Given the description of an element on the screen output the (x, y) to click on. 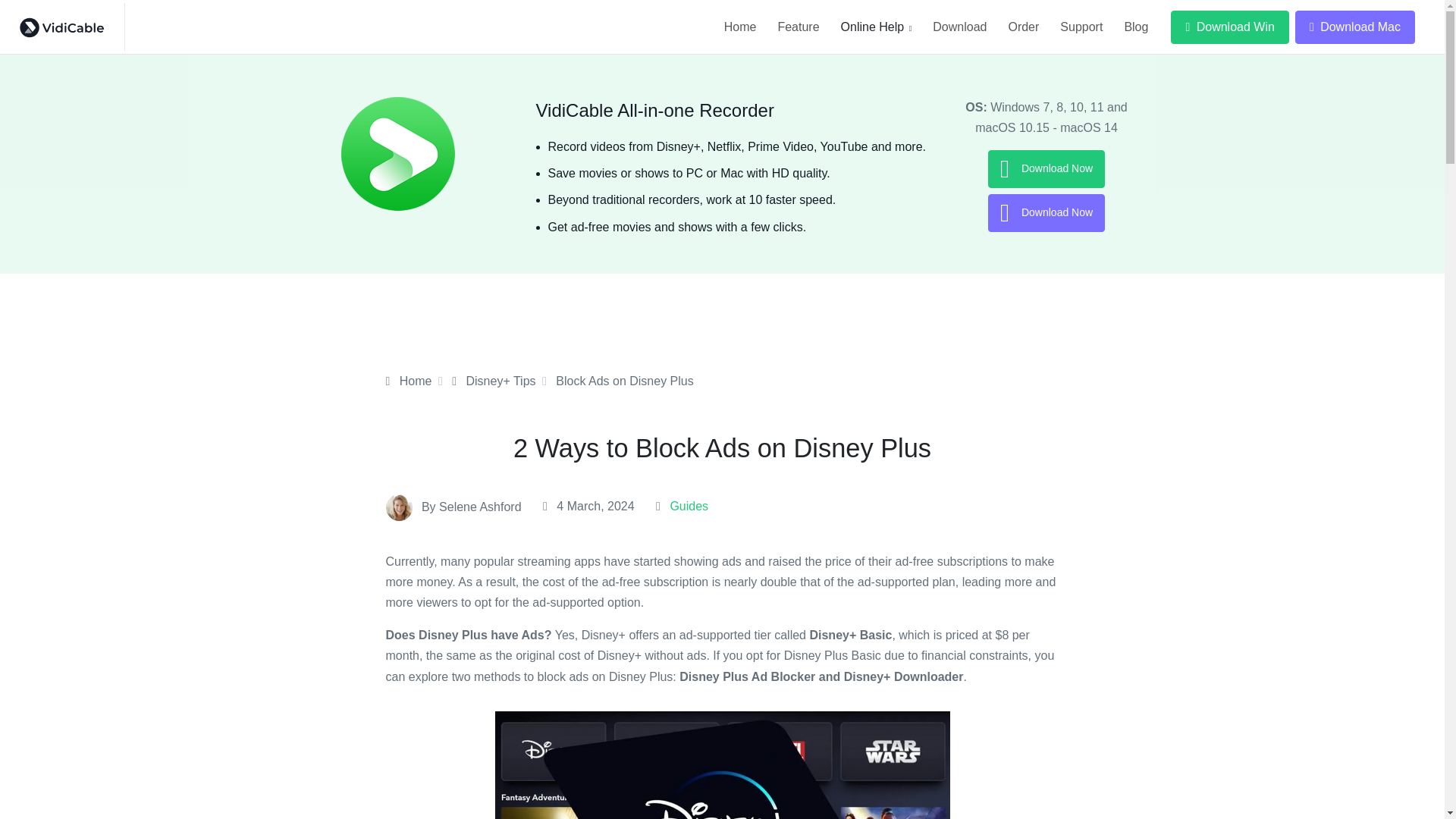
Home (740, 27)
Download Now (1046, 212)
Download Win (1229, 27)
Download (959, 27)
Guides (688, 505)
Download Mac (1355, 27)
Online Help (876, 27)
Download Now (1046, 168)
Home (407, 380)
Feature (798, 27)
